Given the description of an element on the screen output the (x, y) to click on. 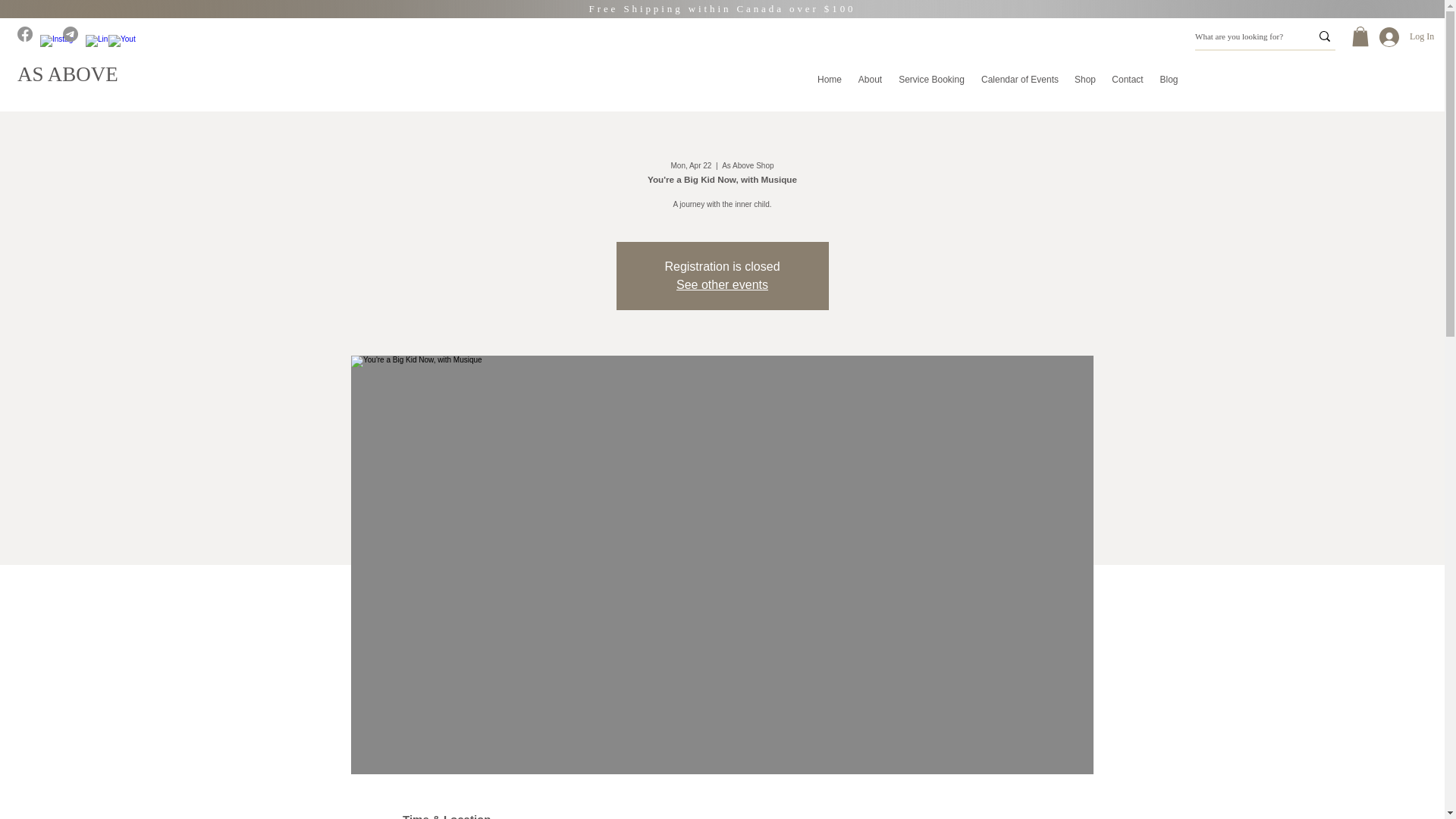
About (869, 78)
Shop (1085, 78)
Contact (1127, 78)
See other events (722, 284)
Calendar of Events (1019, 78)
Home (829, 78)
Blog (1168, 78)
Service Booking (930, 78)
Log In (1391, 36)
